Given the description of an element on the screen output the (x, y) to click on. 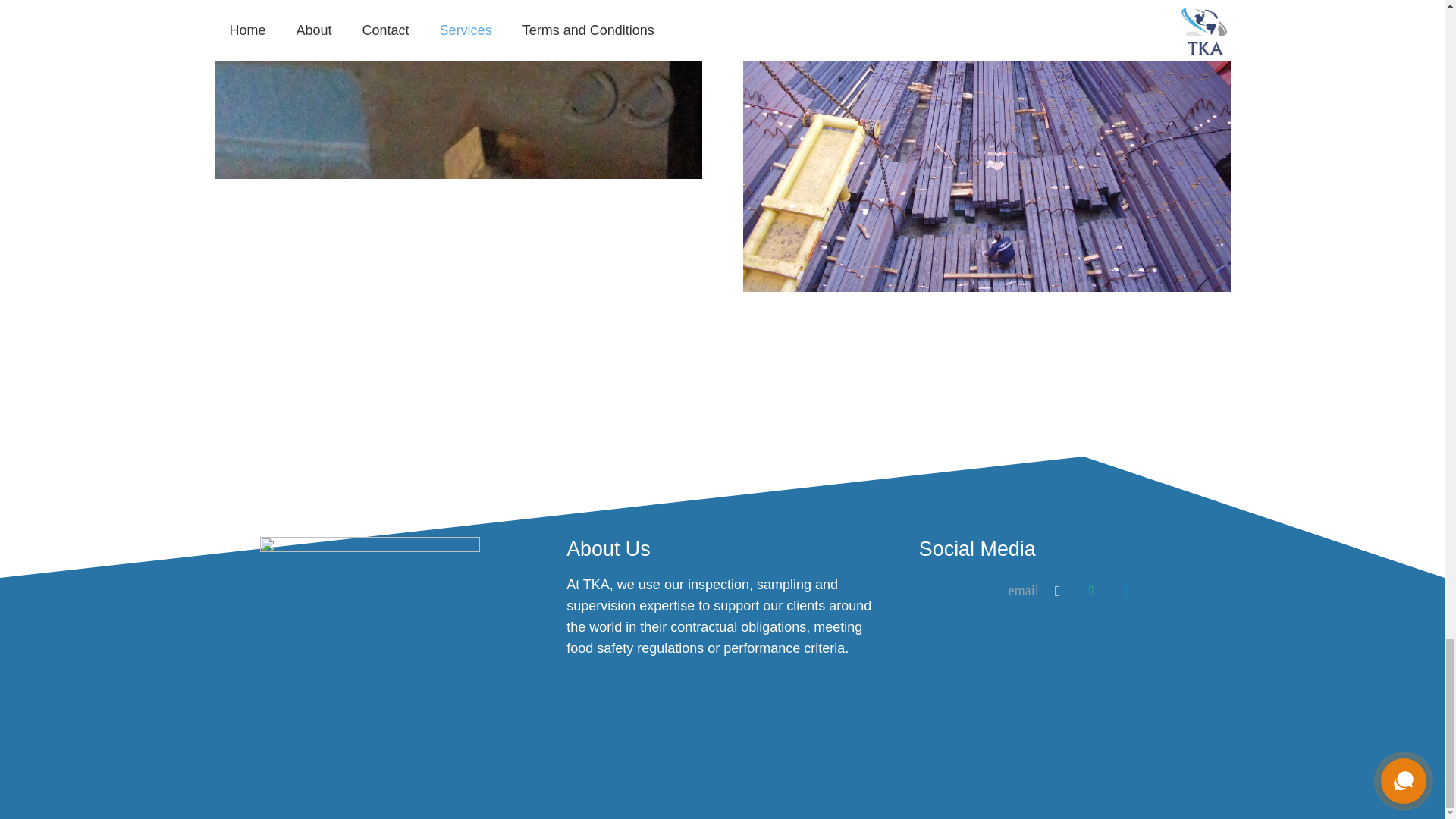
Email (1023, 591)
s4 (457, 89)
WhatsApp (1091, 591)
Instagram (1057, 591)
